Given the description of an element on the screen output the (x, y) to click on. 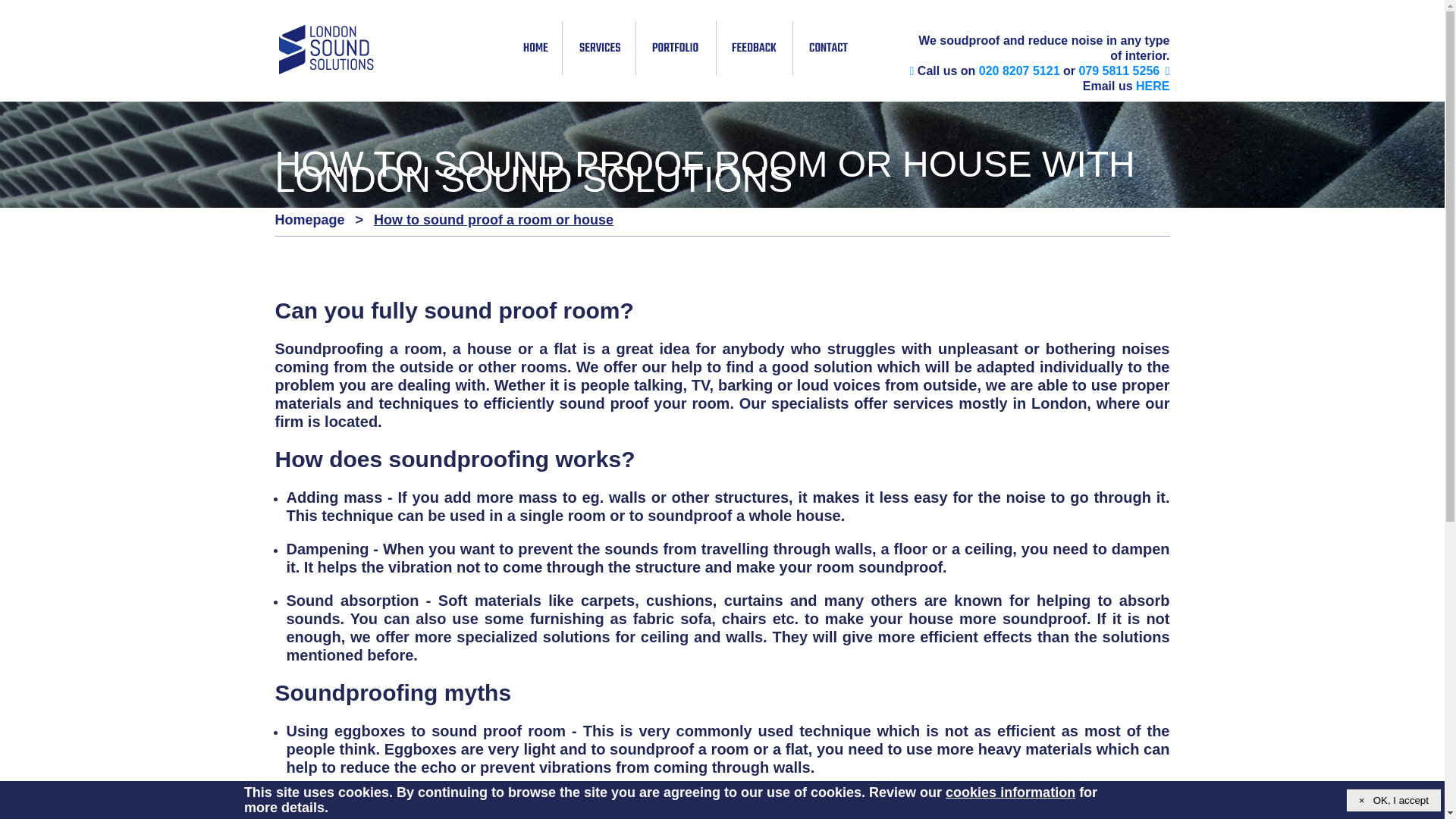
079 5811 5256 (1118, 70)
How to sound proof a room or house (489, 219)
020 8207 5121 (1018, 70)
Homepage (312, 219)
London Sound Solutions (326, 49)
Email us (1152, 85)
HERE (1152, 85)
